Given the description of an element on the screen output the (x, y) to click on. 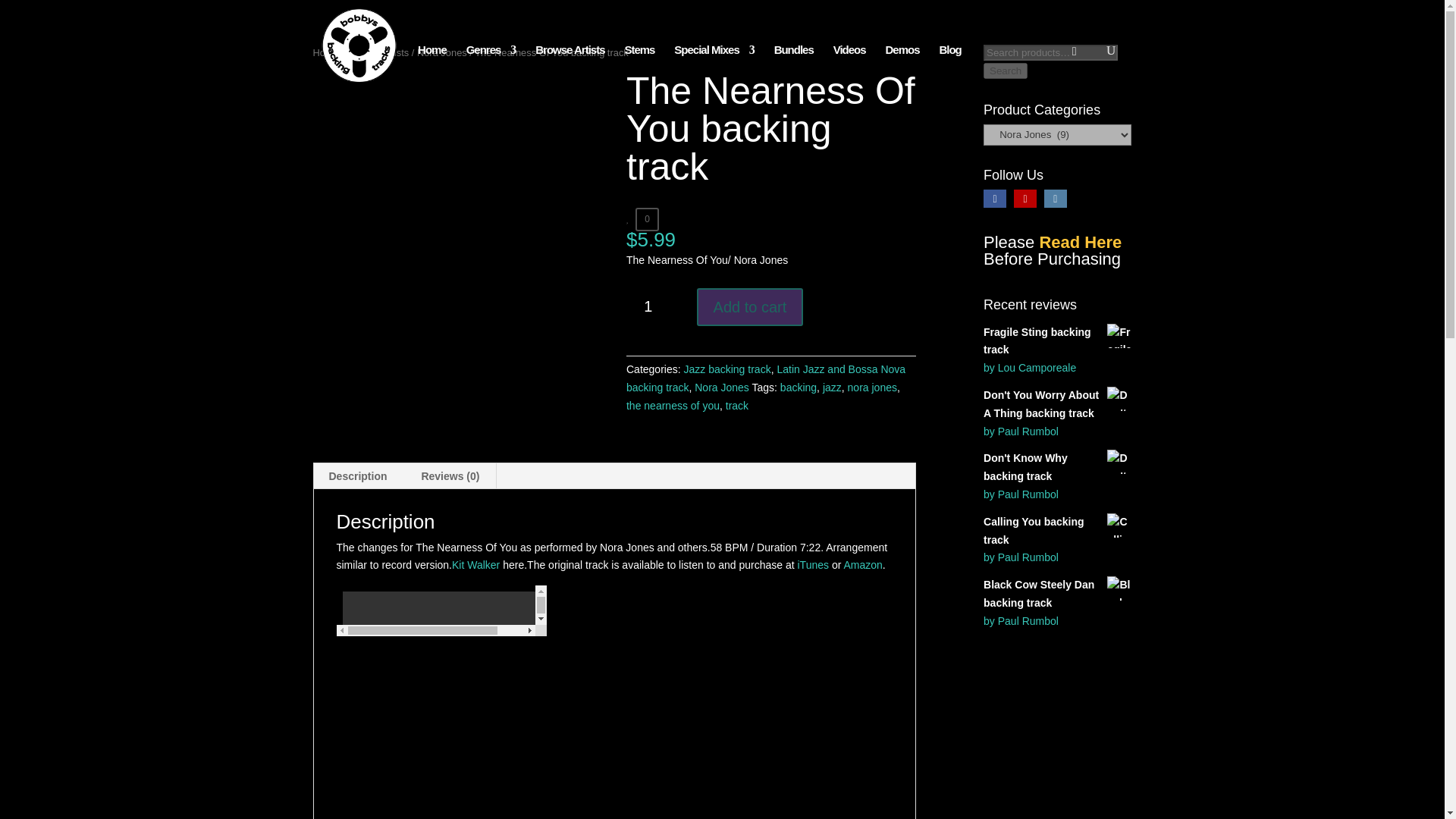
Latin Jazz and Bossa Nova backing track (765, 378)
Videos (849, 59)
1 (653, 306)
Demos (902, 59)
Browse Artists (378, 52)
Jazz backing track (726, 369)
Bundles (793, 59)
backing (798, 387)
Stems (638, 59)
Nora Jones (721, 387)
